Given the description of an element on the screen output the (x, y) to click on. 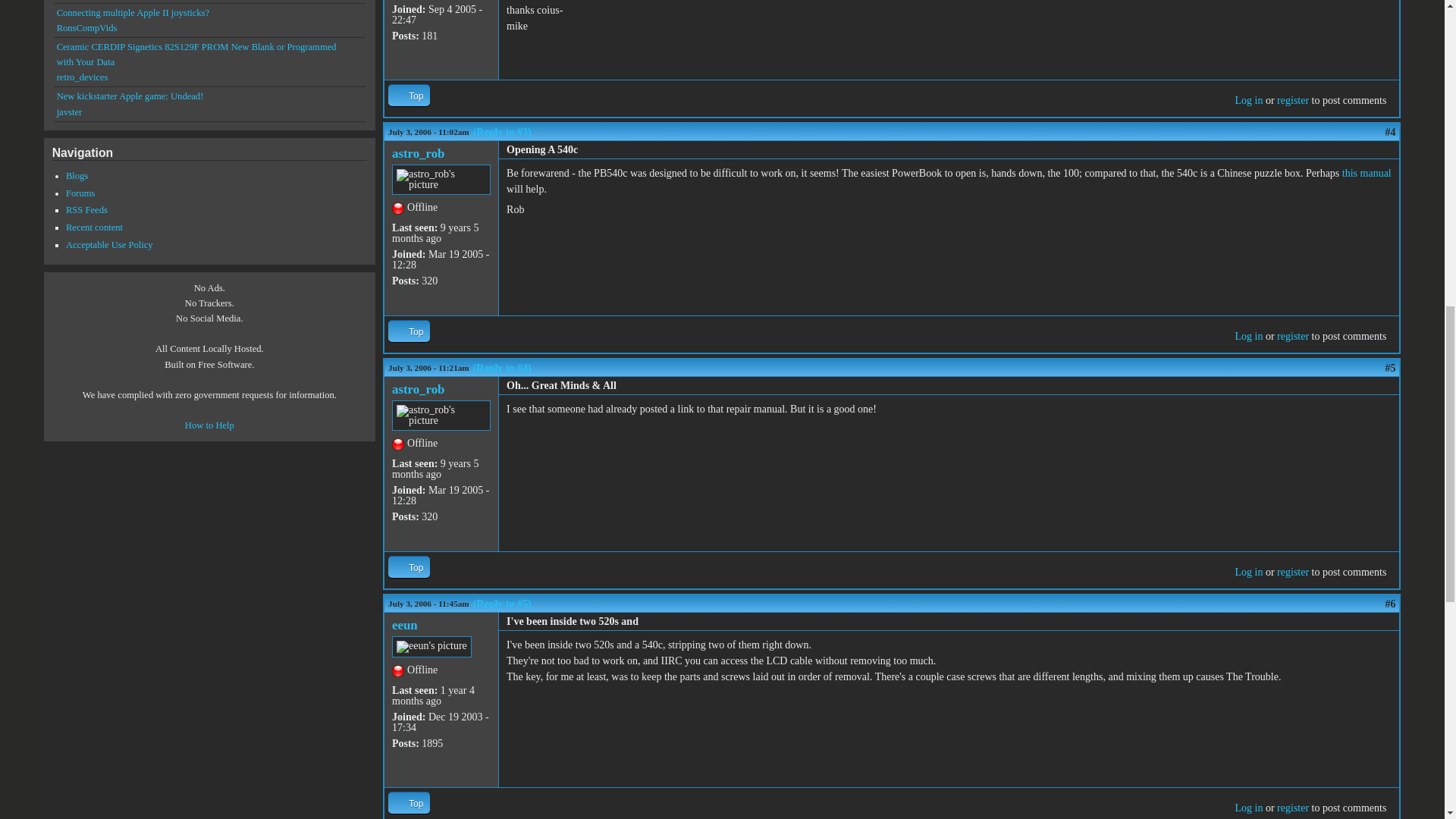
Jump to top of page (408, 331)
Log in (1248, 100)
this manual (1366, 173)
Top (408, 95)
Jump to top of page (408, 95)
View user profile. (417, 389)
register (1292, 100)
View user profile. (417, 153)
